Given the description of an element on the screen output the (x, y) to click on. 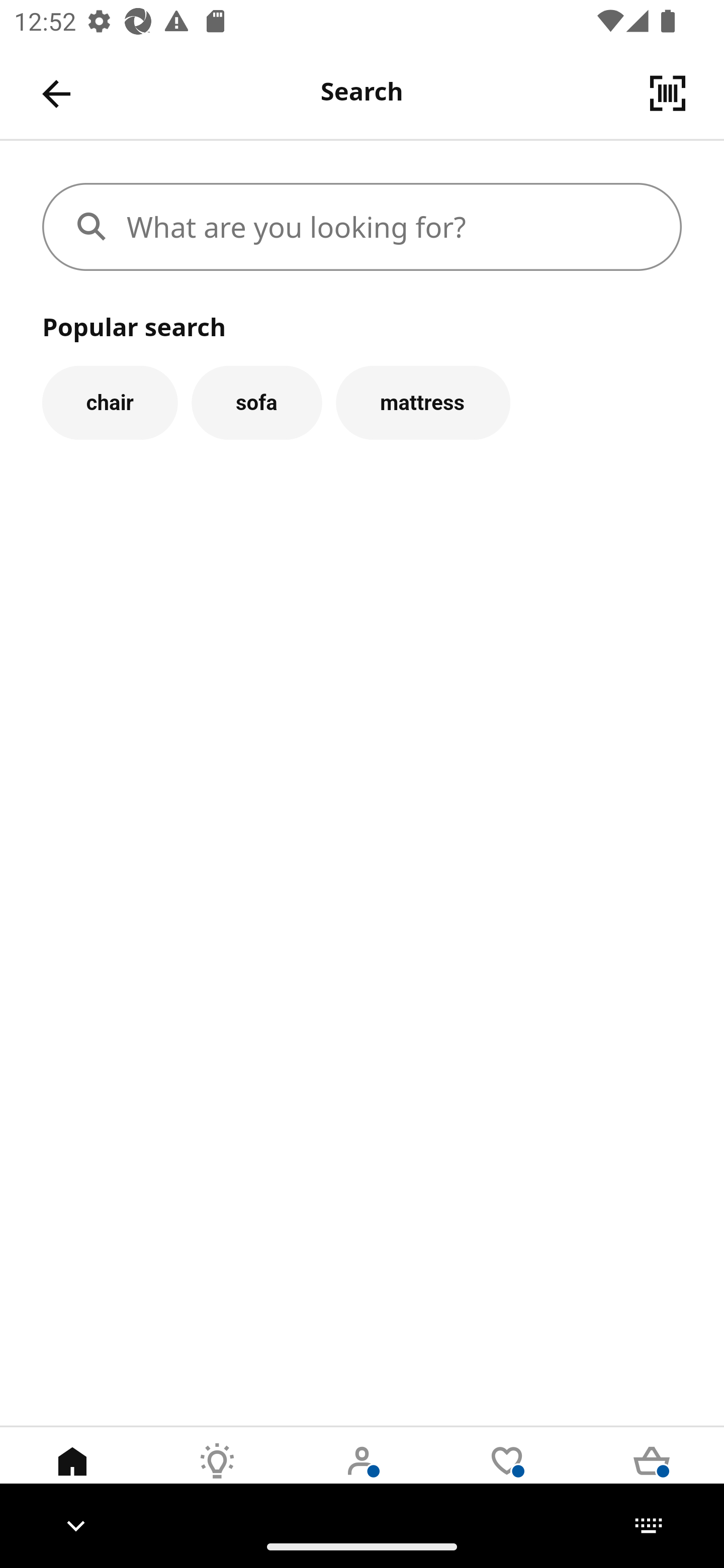
chair (109, 402)
sofa (256, 402)
mattress (423, 402)
Home
Tab 1 of 5 (72, 1476)
Inspirations
Tab 2 of 5 (216, 1476)
User
Tab 3 of 5 (361, 1476)
Wishlist
Tab 4 of 5 (506, 1476)
Cart
Tab 5 of 5 (651, 1476)
